Given the description of an element on the screen output the (x, y) to click on. 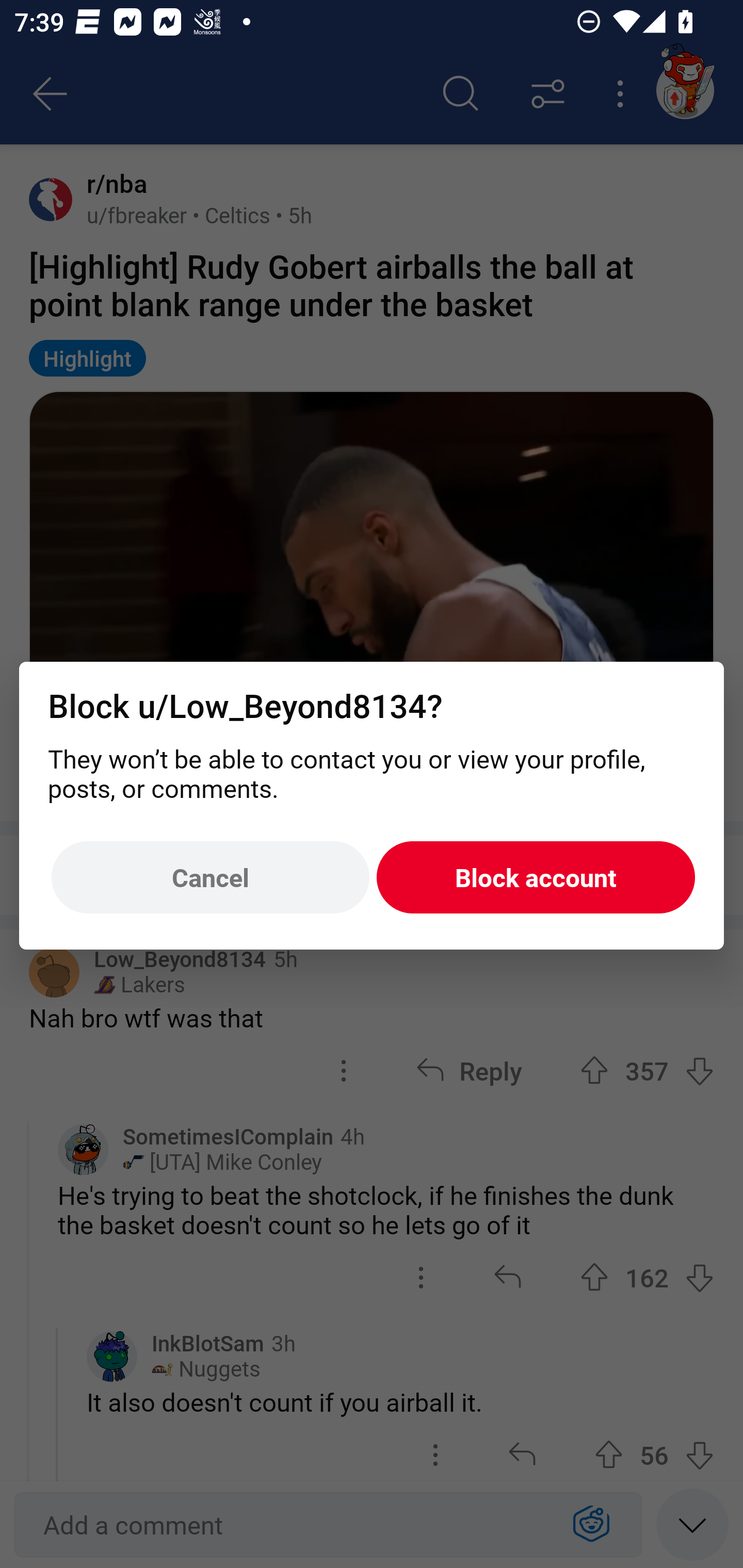
Cancel (210, 878)
Block account (535, 878)
